Given the description of an element on the screen output the (x, y) to click on. 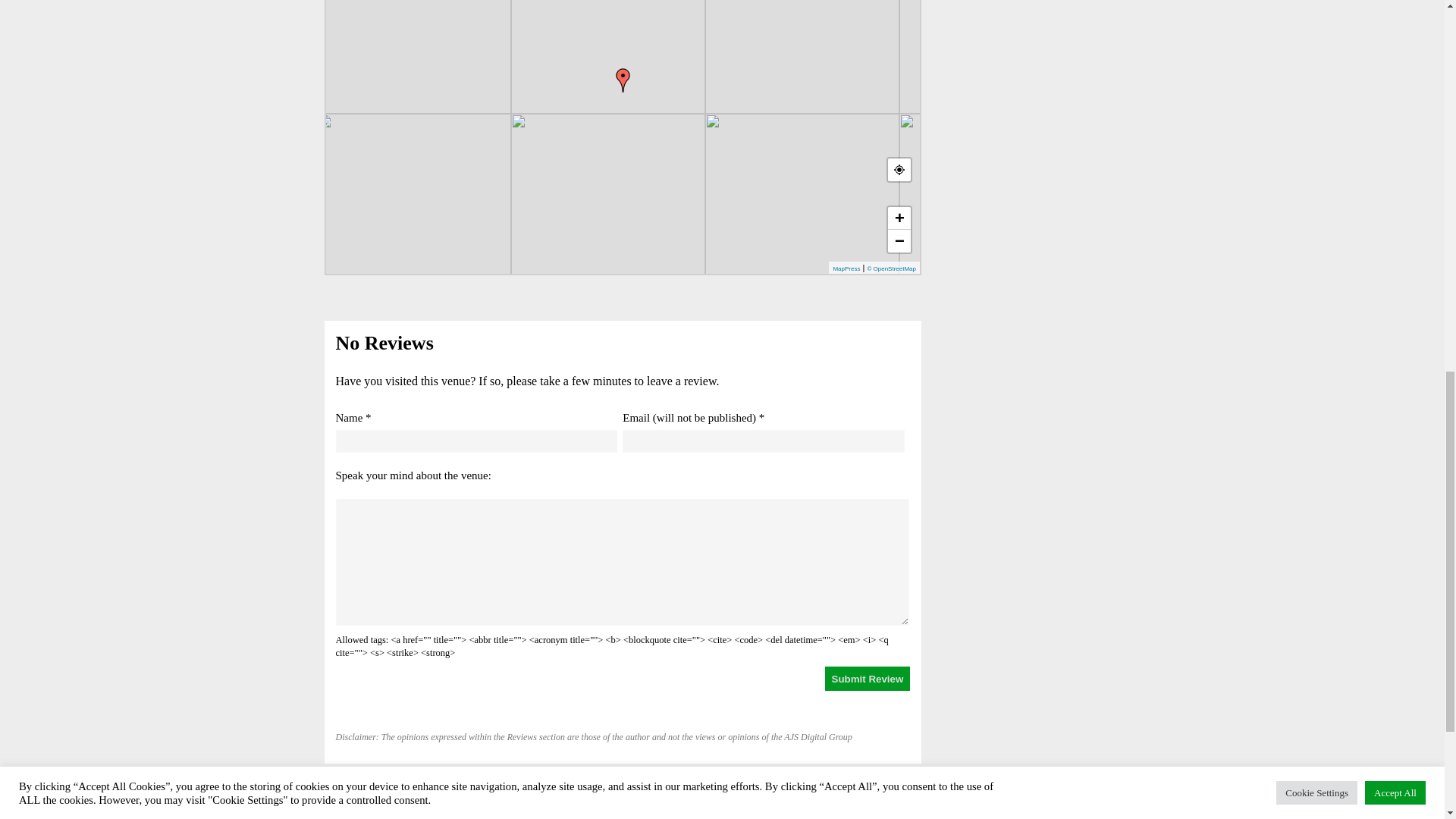
Submit Review (867, 678)
MapPress (846, 268)
Your Location (899, 169)
Submit Review (867, 678)
Advertisement (1027, 49)
